Given the description of an element on the screen output the (x, y) to click on. 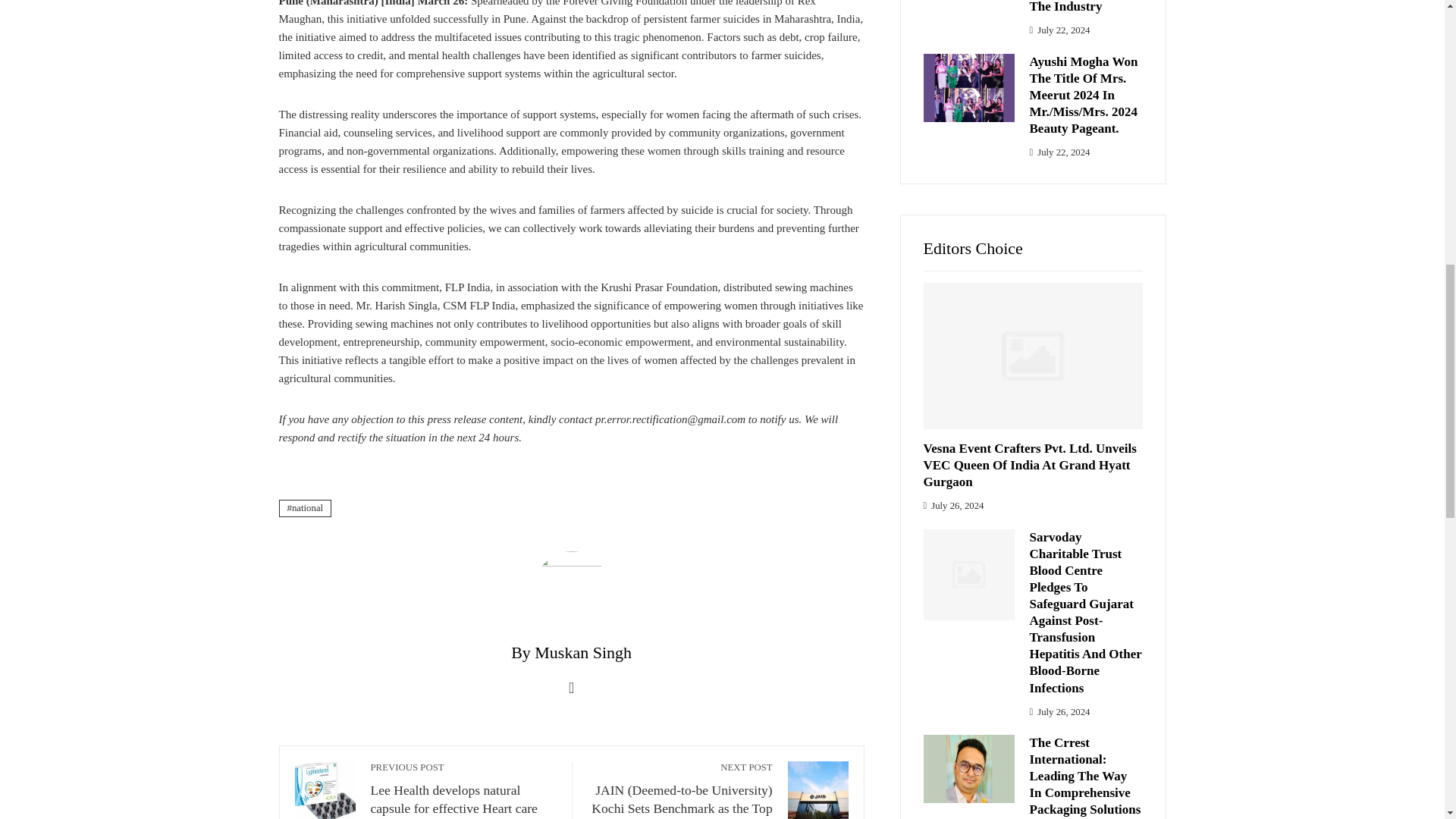
national (305, 507)
